Given the description of an element on the screen output the (x, y) to click on. 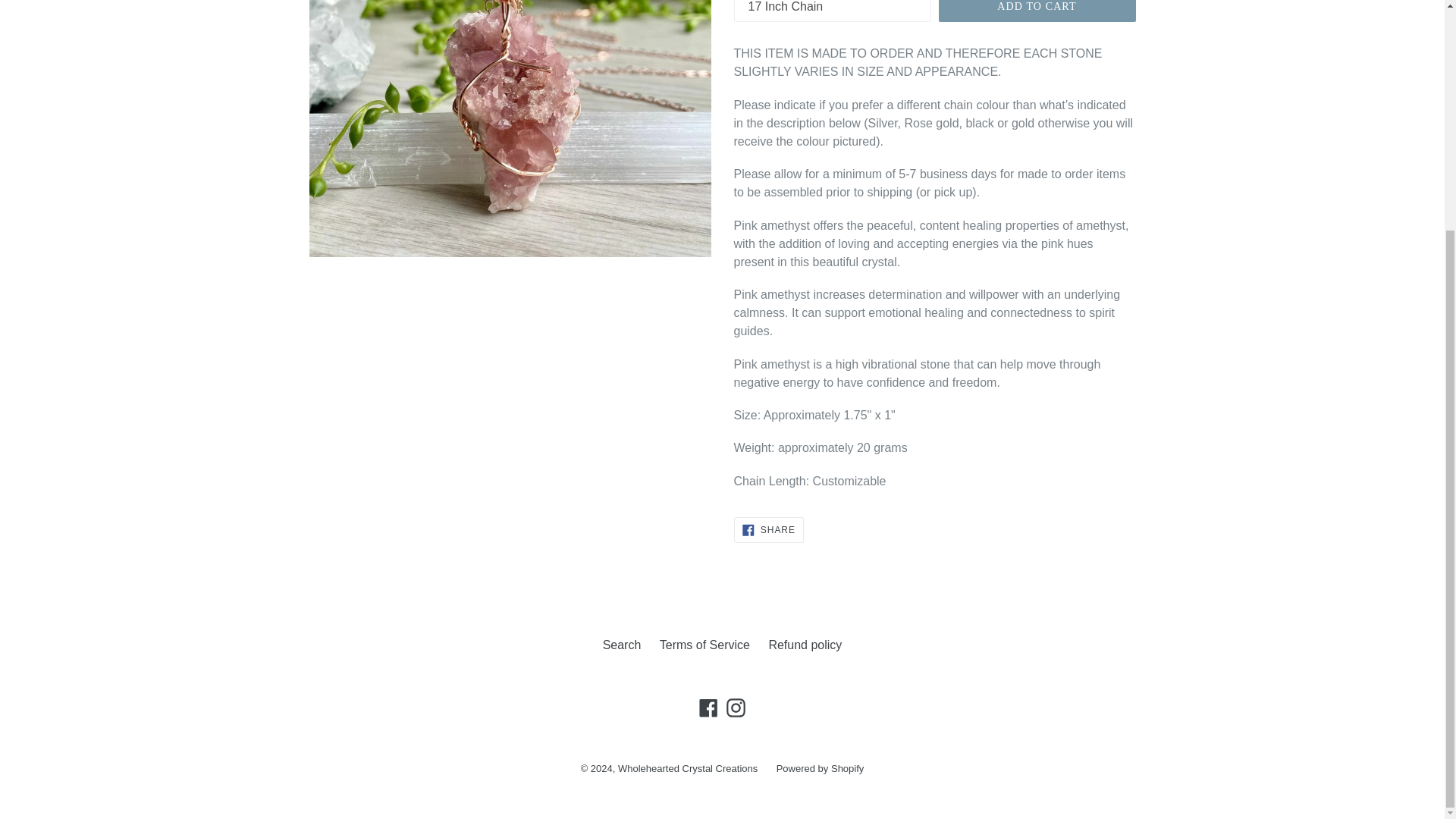
Wholehearted Crystal Creations on Instagram (735, 707)
Share on Facebook (768, 529)
Wholehearted Crystal Creations on Facebook (708, 707)
